Given the description of an element on the screen output the (x, y) to click on. 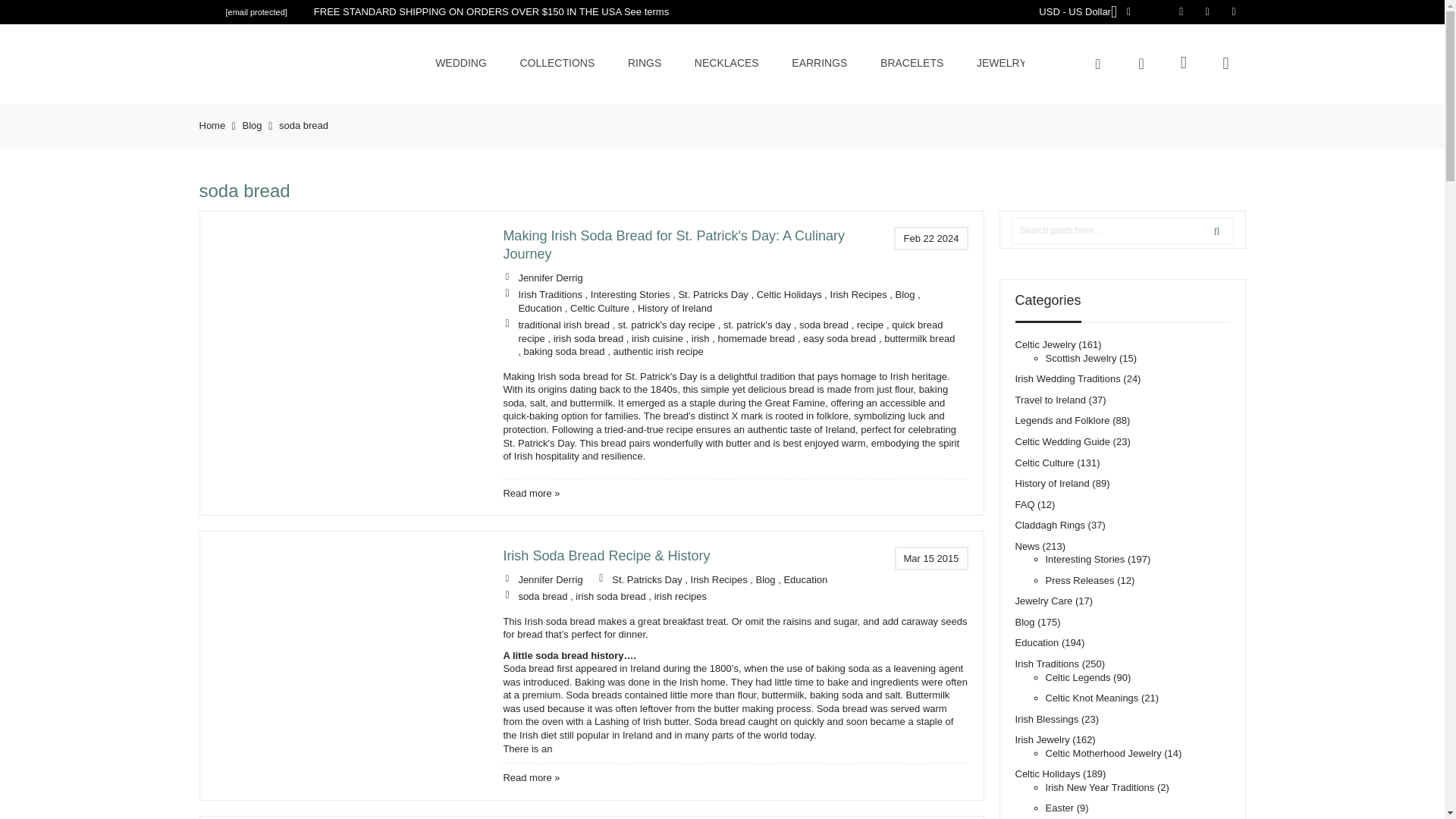
Irish Recipes (857, 294)
NECKLACES (726, 62)
Celtic Culture (599, 307)
See terms (646, 11)
EARRINGS (818, 62)
JEWELRY (1001, 62)
Interesting Stories (630, 294)
WEDDING (461, 62)
RINGS (644, 62)
